Given the description of an element on the screen output the (x, y) to click on. 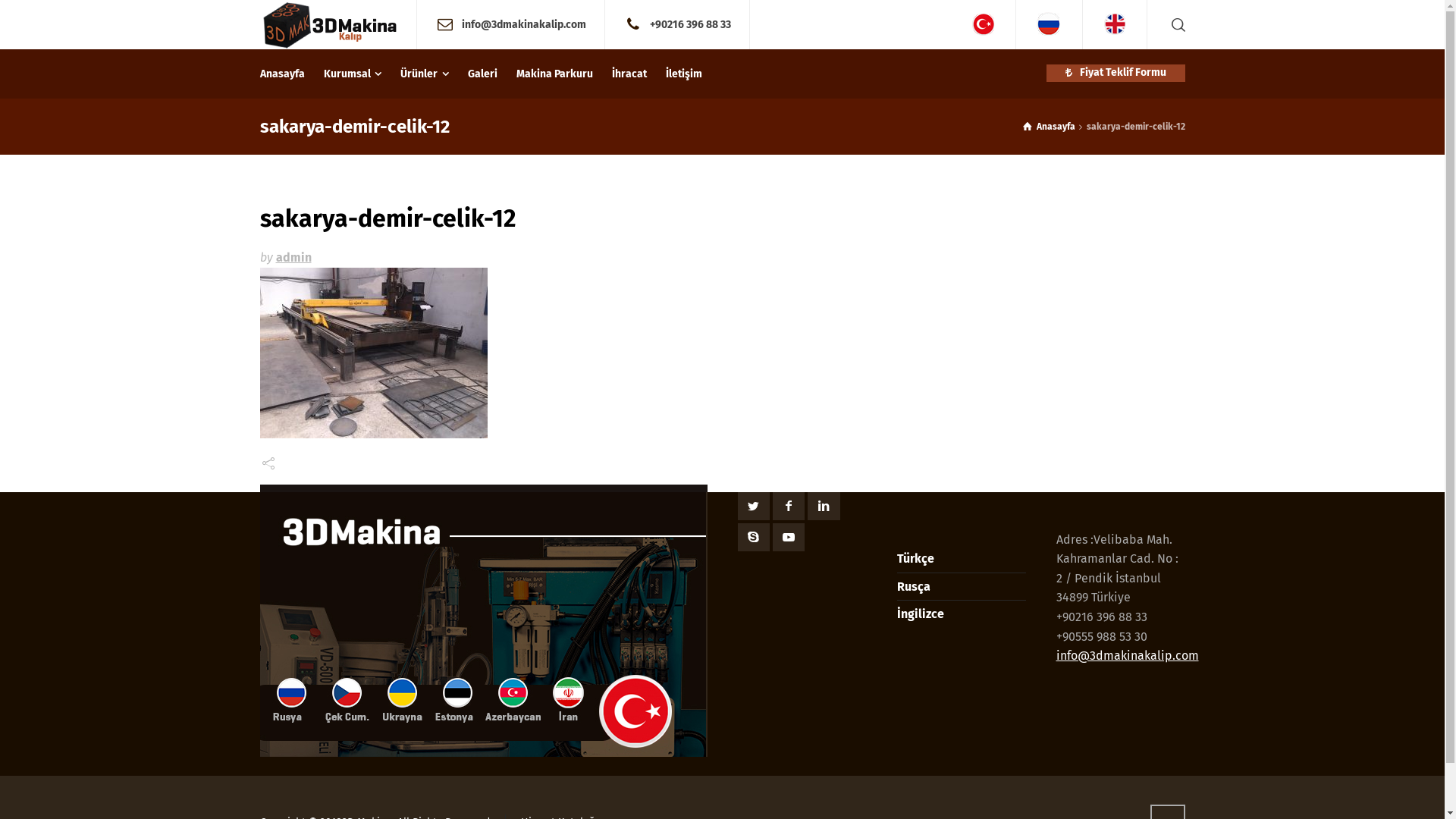
YouTube Element type: hover (788, 537)
Anasayfa Element type: text (286, 73)
Twitter Element type: hover (752, 506)
Kurumsal Element type: text (352, 73)
Makina Parkuru Element type: text (554, 73)
+90216 396 88 33 Element type: text (690, 23)
Anasayfa Element type: text (1048, 126)
Fiyat Teklif Formu Element type: text (1115, 72)
admin Element type: text (293, 257)
Facebook Element type: hover (788, 506)
Galeri Element type: text (482, 73)
info@3dmakinakalip.com Element type: text (523, 23)
info@3dmakinakalip.com Element type: text (1126, 655)
Linkedin Element type: hover (823, 506)
Skype Element type: hover (752, 537)
Search Element type: hover (1174, 24)
